Given the description of an element on the screen output the (x, y) to click on. 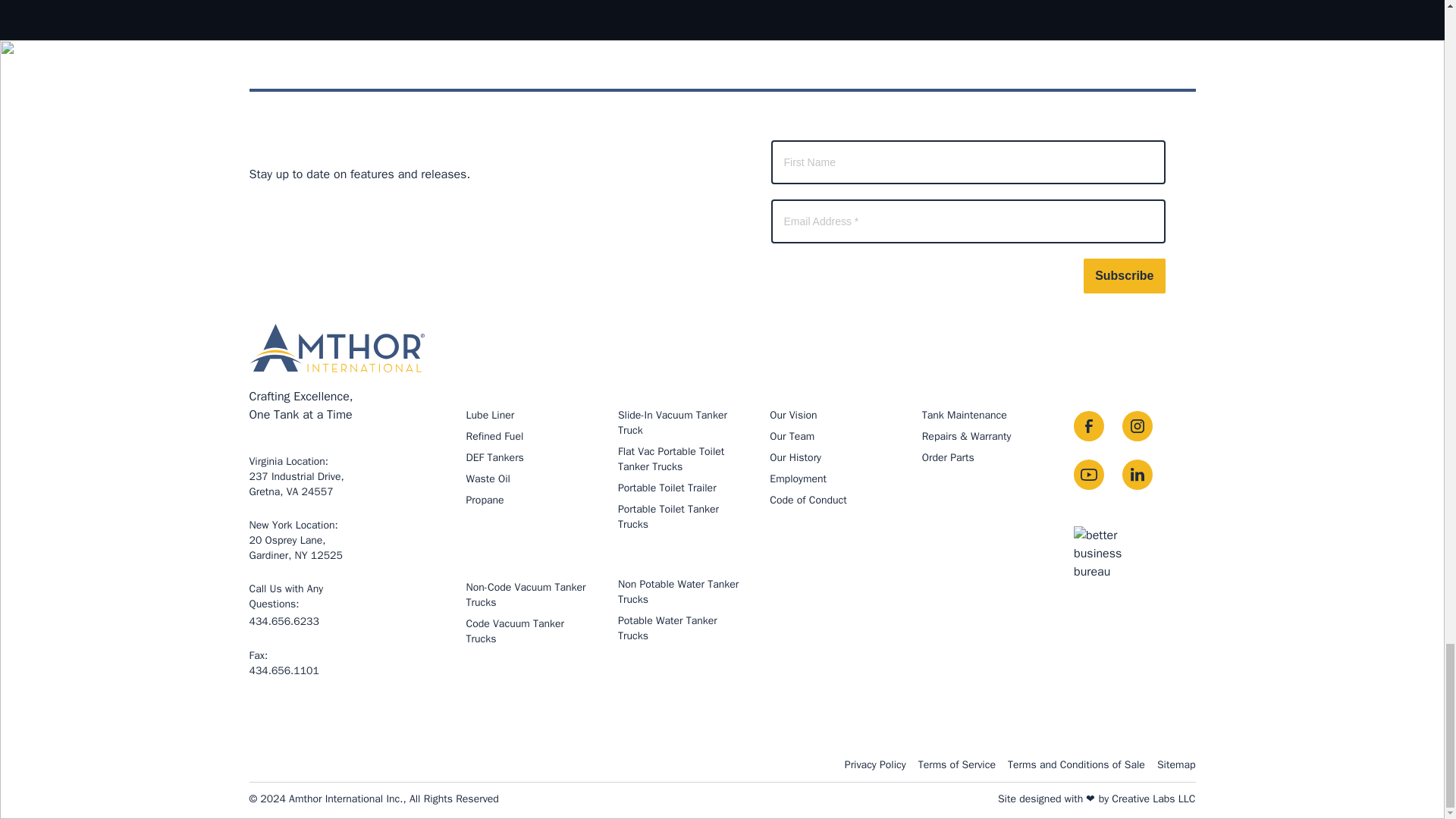
Portable Toilet Trailer (666, 487)
Refined Fuel (494, 436)
Waste Oil (300, 540)
434.656.6233 (488, 478)
Our Vision (283, 621)
Employment (793, 414)
Flat Vac Portable Toilet Tanker Trucks (798, 478)
DEF Tankers (670, 459)
Slide-In Vacuum Tanker Truck (494, 457)
Portable Toilet Tanker Trucks (671, 422)
Code of Conduct (668, 516)
Our Team (808, 499)
Non Potable Water Tanker Trucks (791, 436)
